Given the description of an element on the screen output the (x, y) to click on. 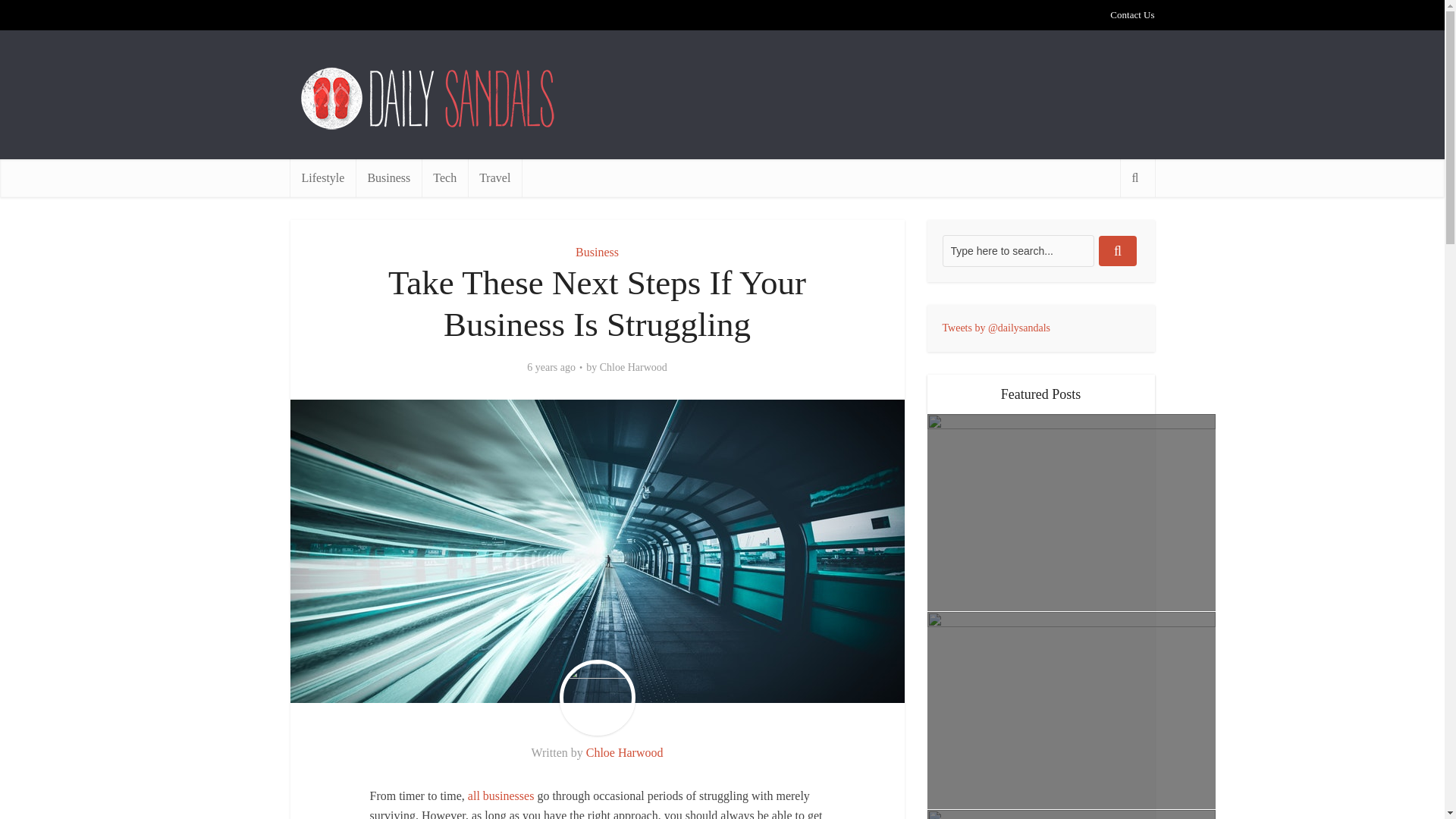
all businesses (500, 795)
Daily Sandals (429, 98)
Chloe Harwood (632, 367)
How Far in Advance Should You Plan a Trip? (1070, 512)
Type here to search... (1017, 250)
Business (388, 177)
Contact Us (1131, 14)
Lifestyle (322, 177)
Tech (444, 177)
Business (596, 251)
Type here to search... (1017, 250)
Chloe Harwood (624, 752)
Travel (494, 177)
